Given the description of an element on the screen output the (x, y) to click on. 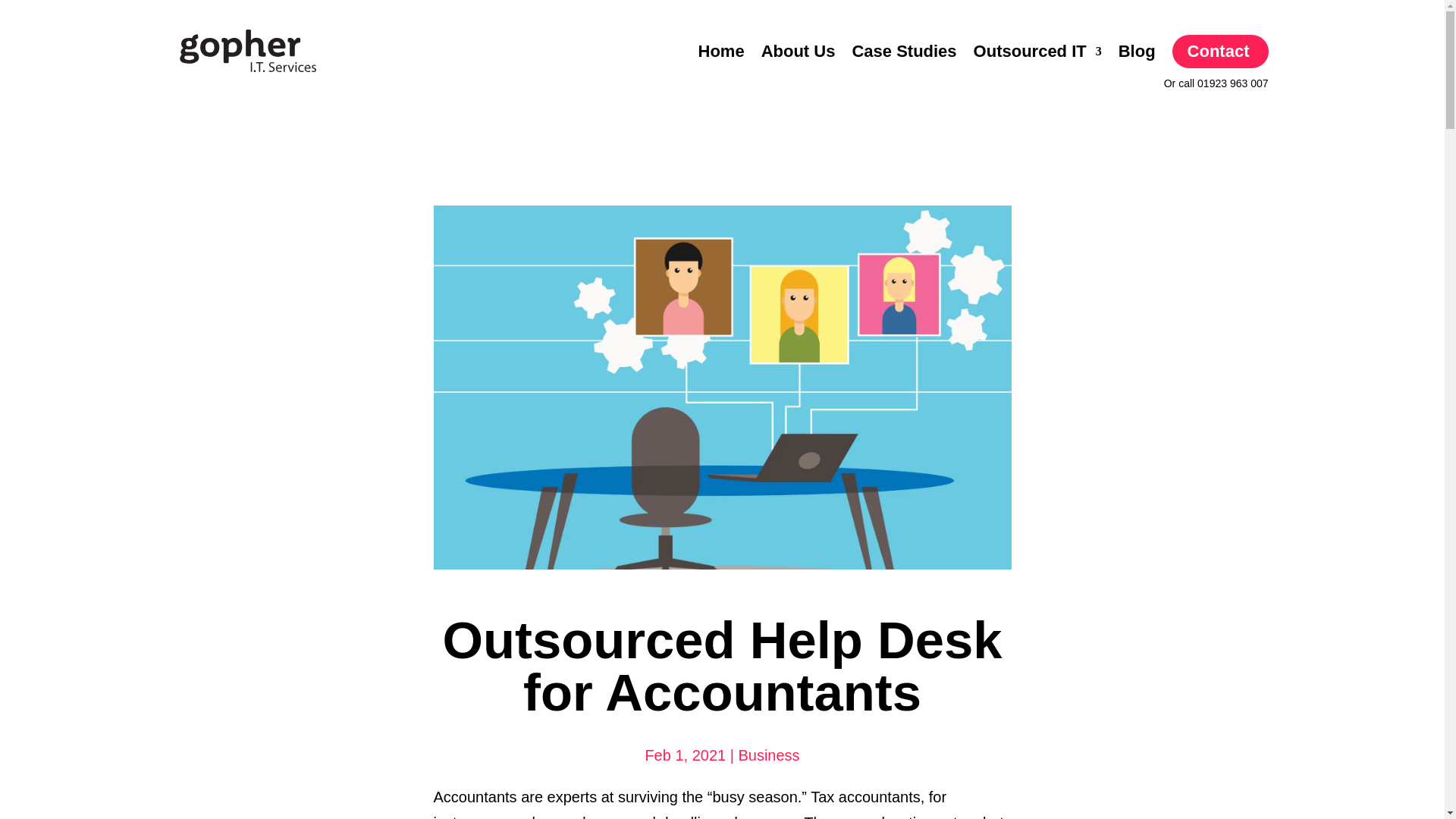
Blog (1137, 50)
Outsourced IT (1038, 50)
Home (721, 50)
Case Studies (903, 50)
Business (768, 754)
Contact (1220, 51)
About Us (798, 50)
